Given the description of an element on the screen output the (x, y) to click on. 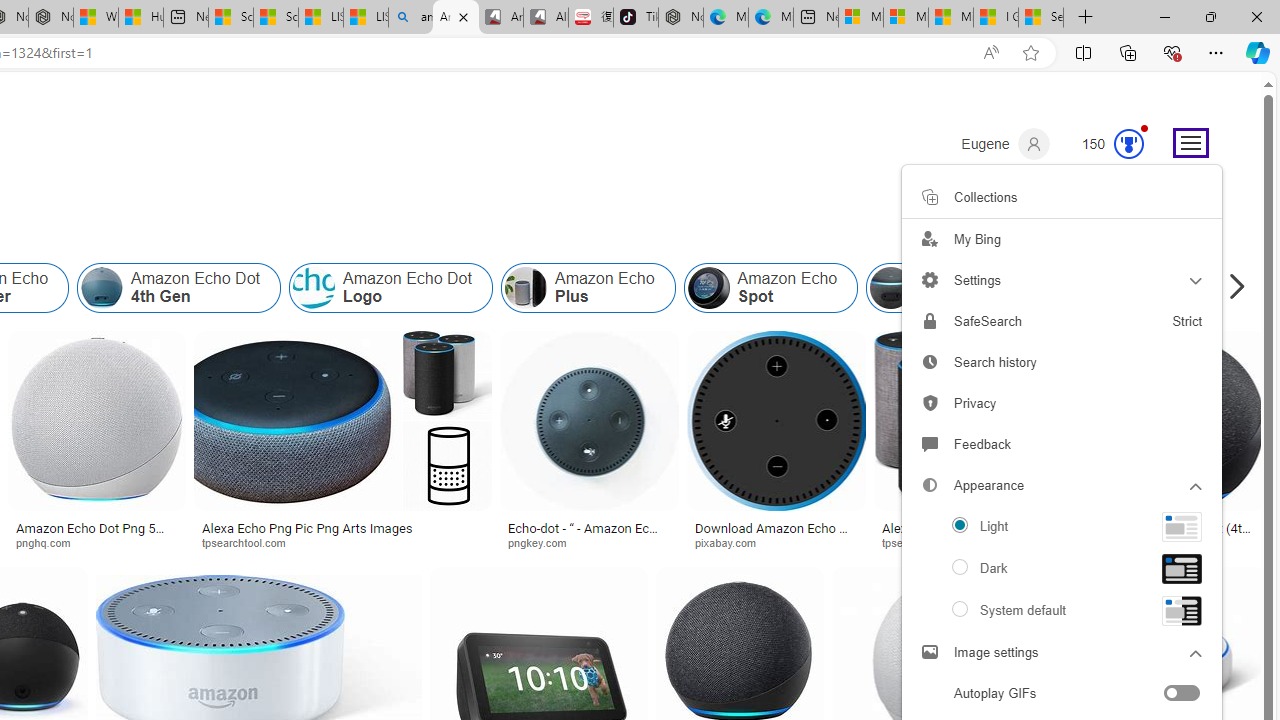
To get missing image descriptions, open the context menu. (1181, 526)
Amazon Echo Dot Png 542 Download (96, 534)
Amazon Echo Plus (525, 287)
Scroll right (1231, 287)
pixabay.com (776, 542)
Amazon Echo Dot Logo (314, 287)
Alexa Echo Png Pic Png Arts Images (976, 534)
Class: rms_img (1181, 610)
